Given the description of an element on the screen output the (x, y) to click on. 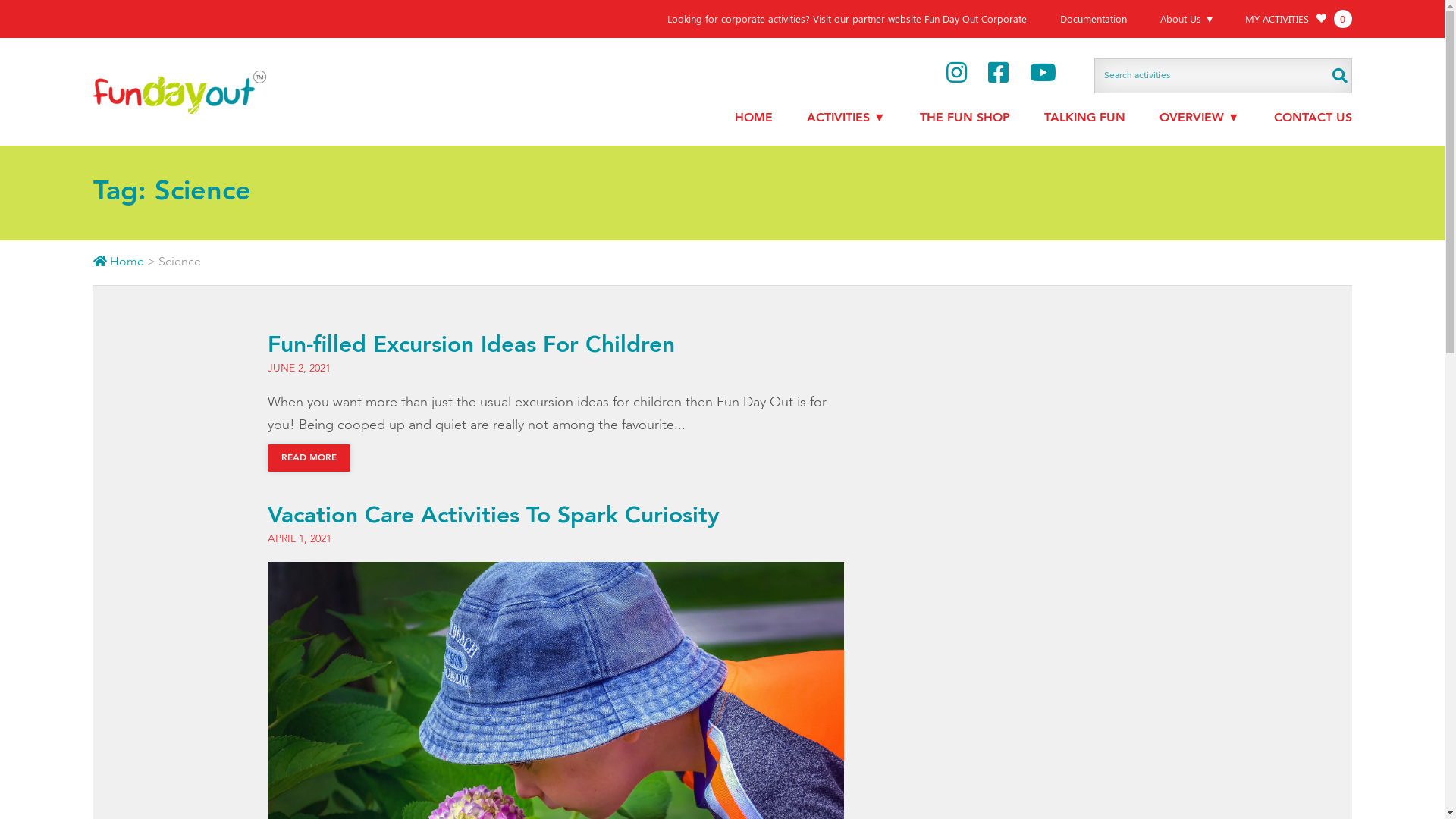
THE FUN SHOP Element type: text (964, 118)
OVERVIEW Element type: text (1199, 118)
MY ACTIVITIES
0 Element type: text (1298, 18)
TALKING FUN Element type: text (1084, 118)
Documentation Element type: text (1093, 18)
Fun-filled Excursion Ideas For Children Element type: text (470, 345)
ACTIVITIES Element type: text (845, 118)
Home Element type: text (119, 262)
HOME Element type: text (753, 118)
About Us Element type: text (1187, 18)
Vacation Care Activities To Spark Curiosity Element type: text (492, 516)
CONTACT US Element type: text (1313, 118)
Search activities Element type: hover (1222, 75)
READ MORE Element type: text (307, 457)
